Given the description of an element on the screen output the (x, y) to click on. 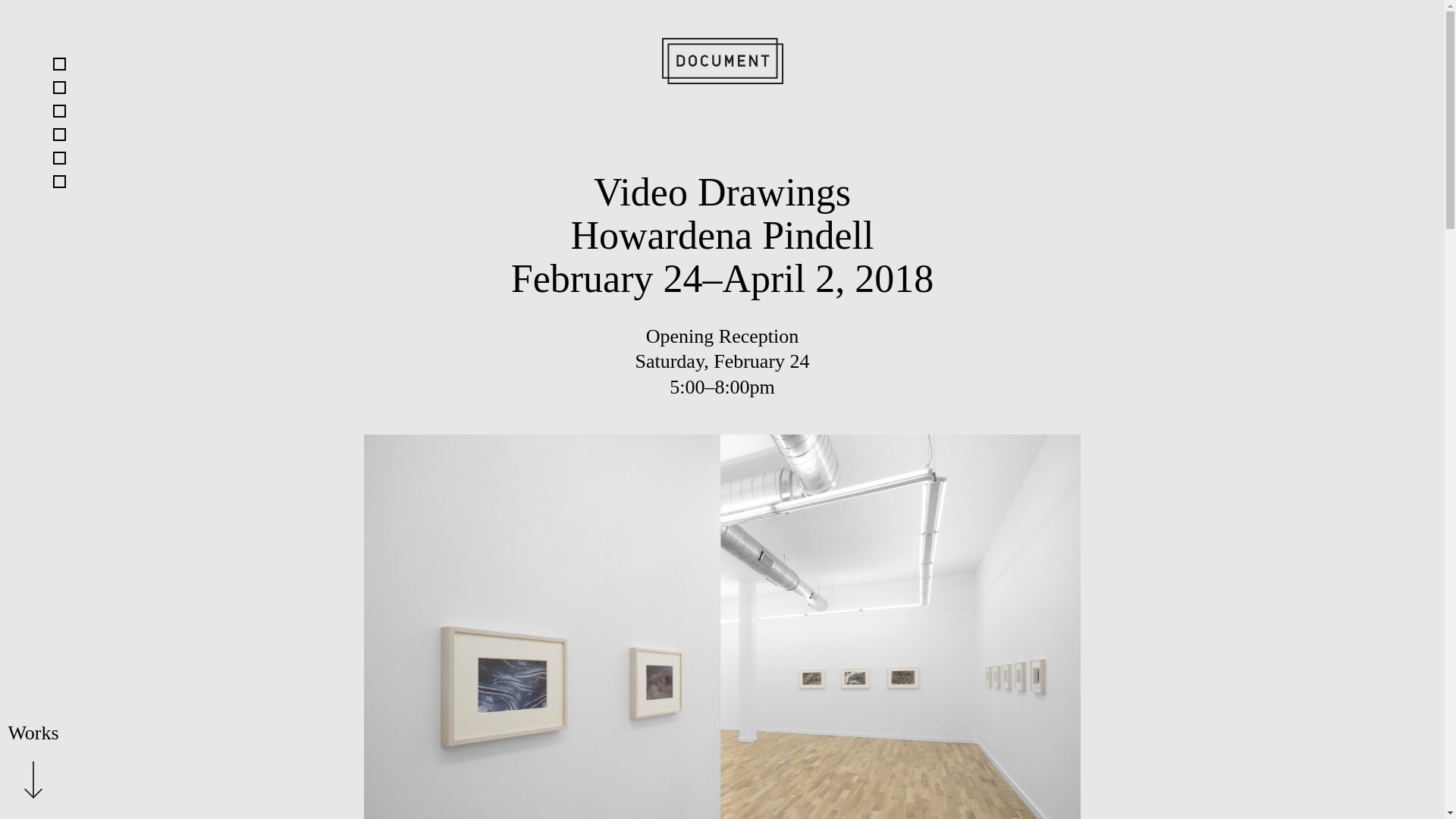
Works (33, 769)
Works (33, 769)
